Given the description of an element on the screen output the (x, y) to click on. 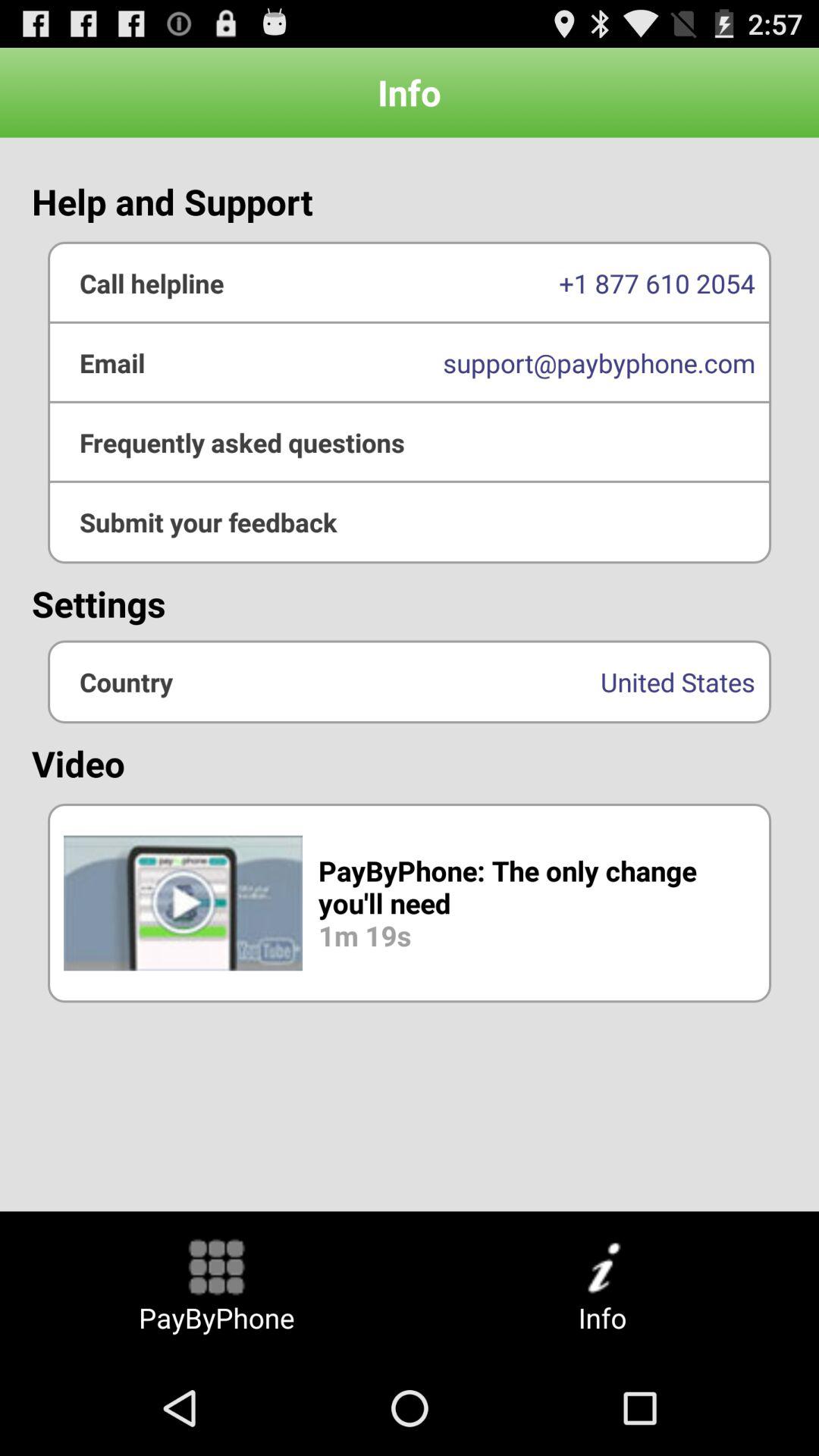
press the icon below the video item (409, 902)
